Given the description of an element on the screen output the (x, y) to click on. 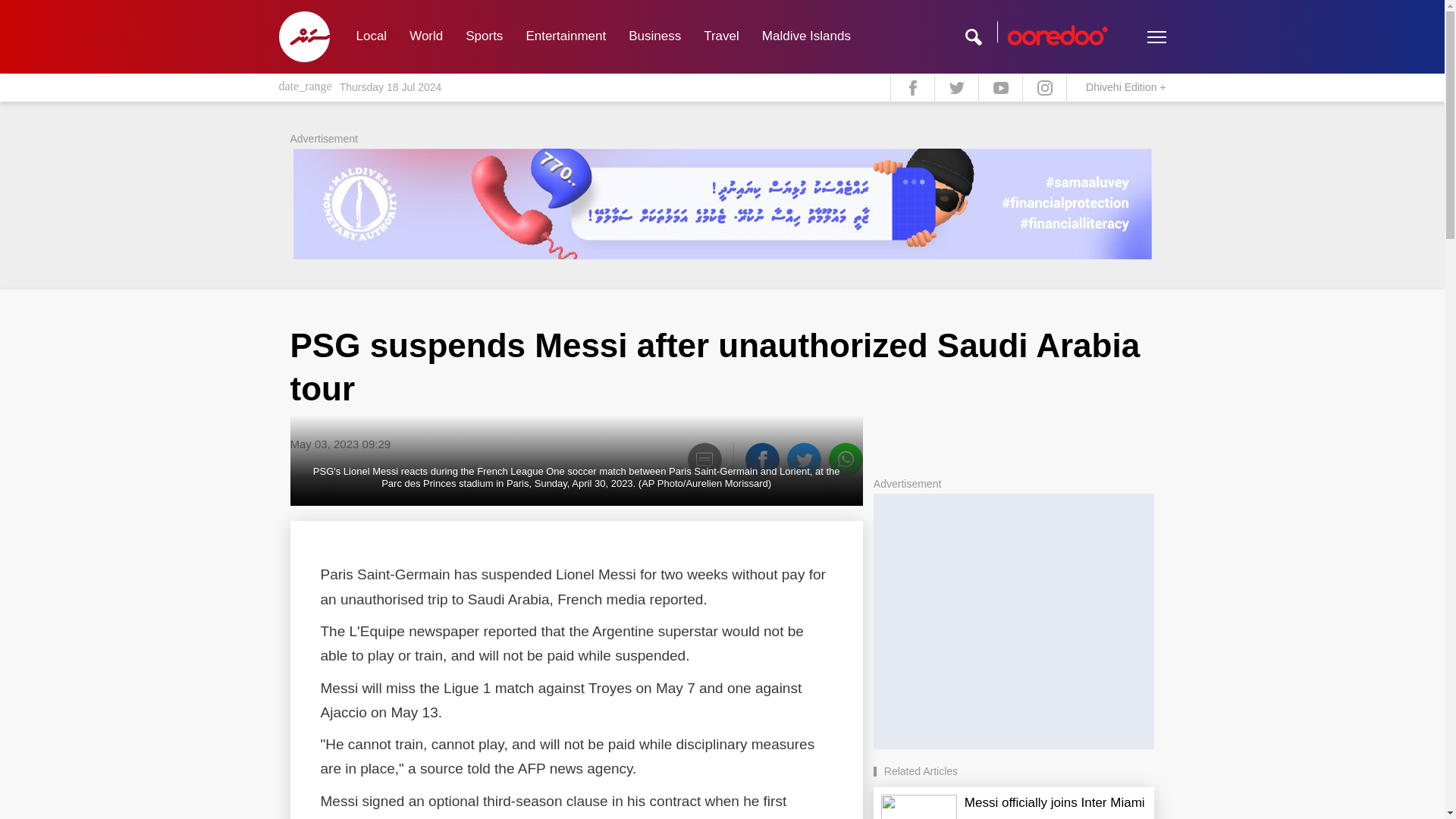
Local (370, 36)
Sports (483, 36)
Business (655, 36)
Maldive Islands (806, 36)
Travel (722, 36)
Entertainment (565, 36)
World (425, 36)
